Given the description of an element on the screen output the (x, y) to click on. 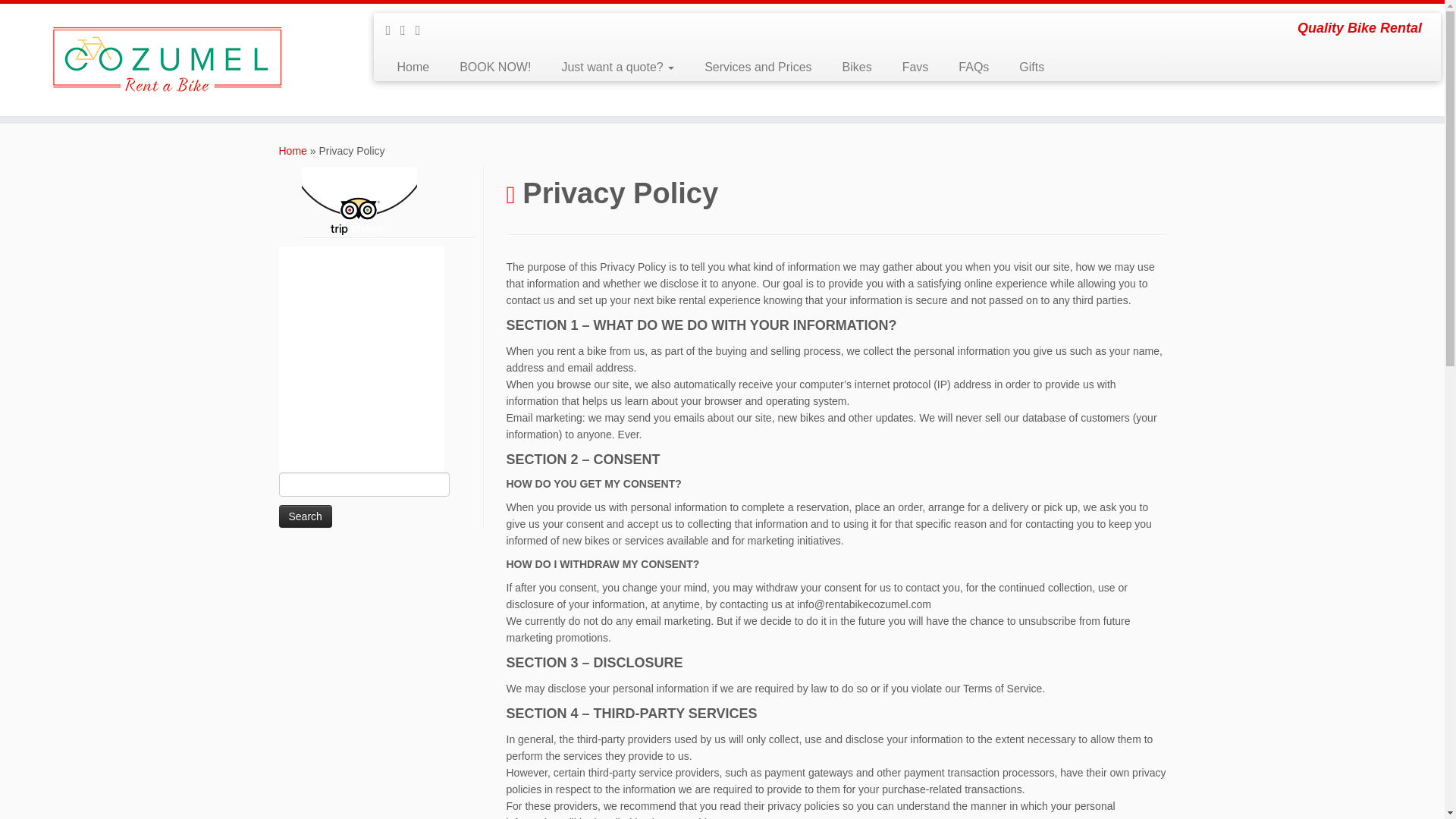
Search (305, 516)
FAQs (973, 67)
Follow me on Facebook (392, 29)
Just want a quote? (617, 67)
BOOK NOW! (495, 67)
Rent a Bike Cozumel (293, 150)
Favs (914, 67)
Gifts (1023, 67)
Follow us on Instagram (422, 29)
Home (293, 150)
